Given the description of an element on the screen output the (x, y) to click on. 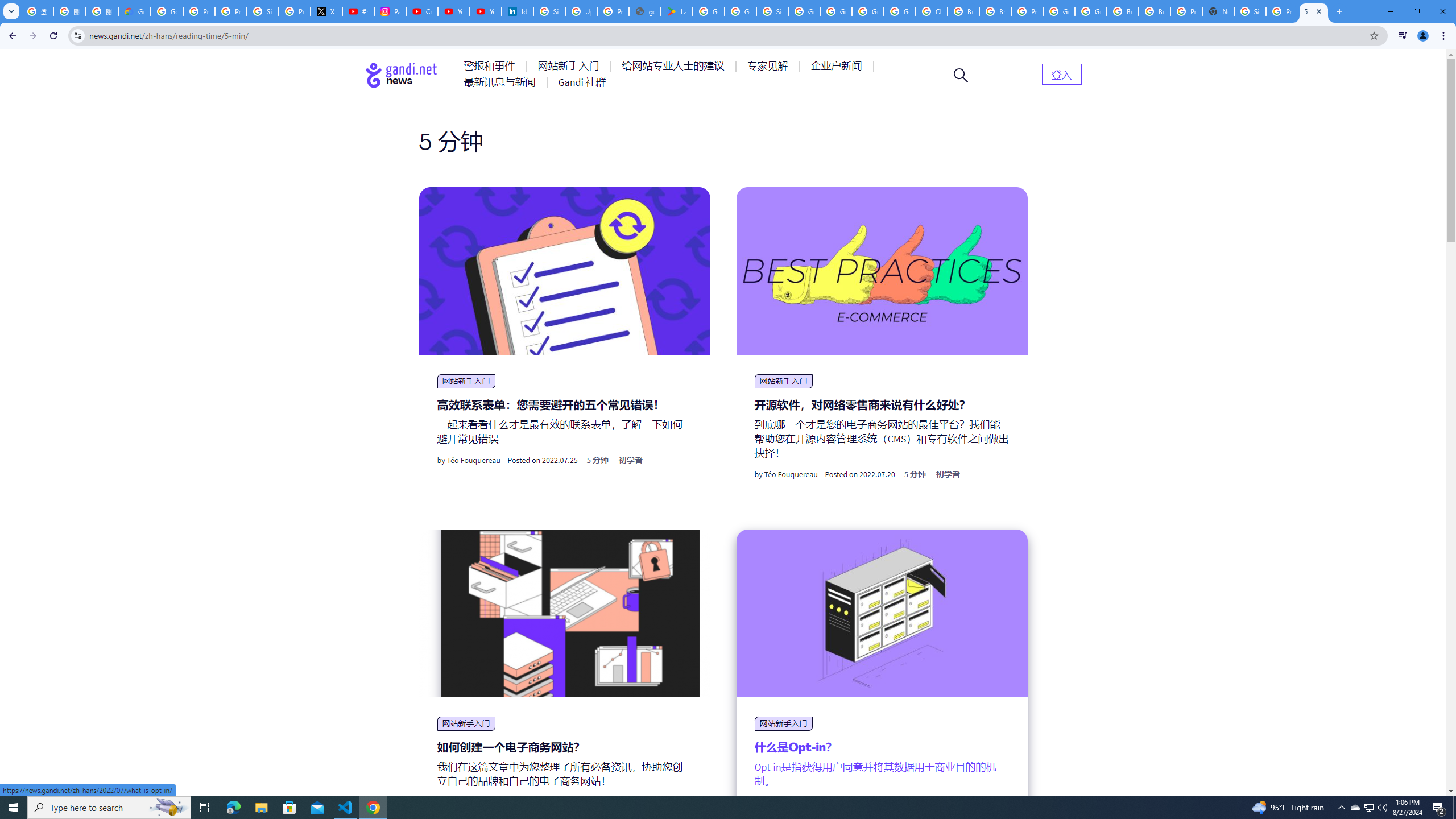
Sign in - Google Accounts (262, 11)
AutomationID: menu-item-82399 (1061, 73)
Go to home (401, 75)
Open search form (960, 74)
